Given the description of an element on the screen output the (x, y) to click on. 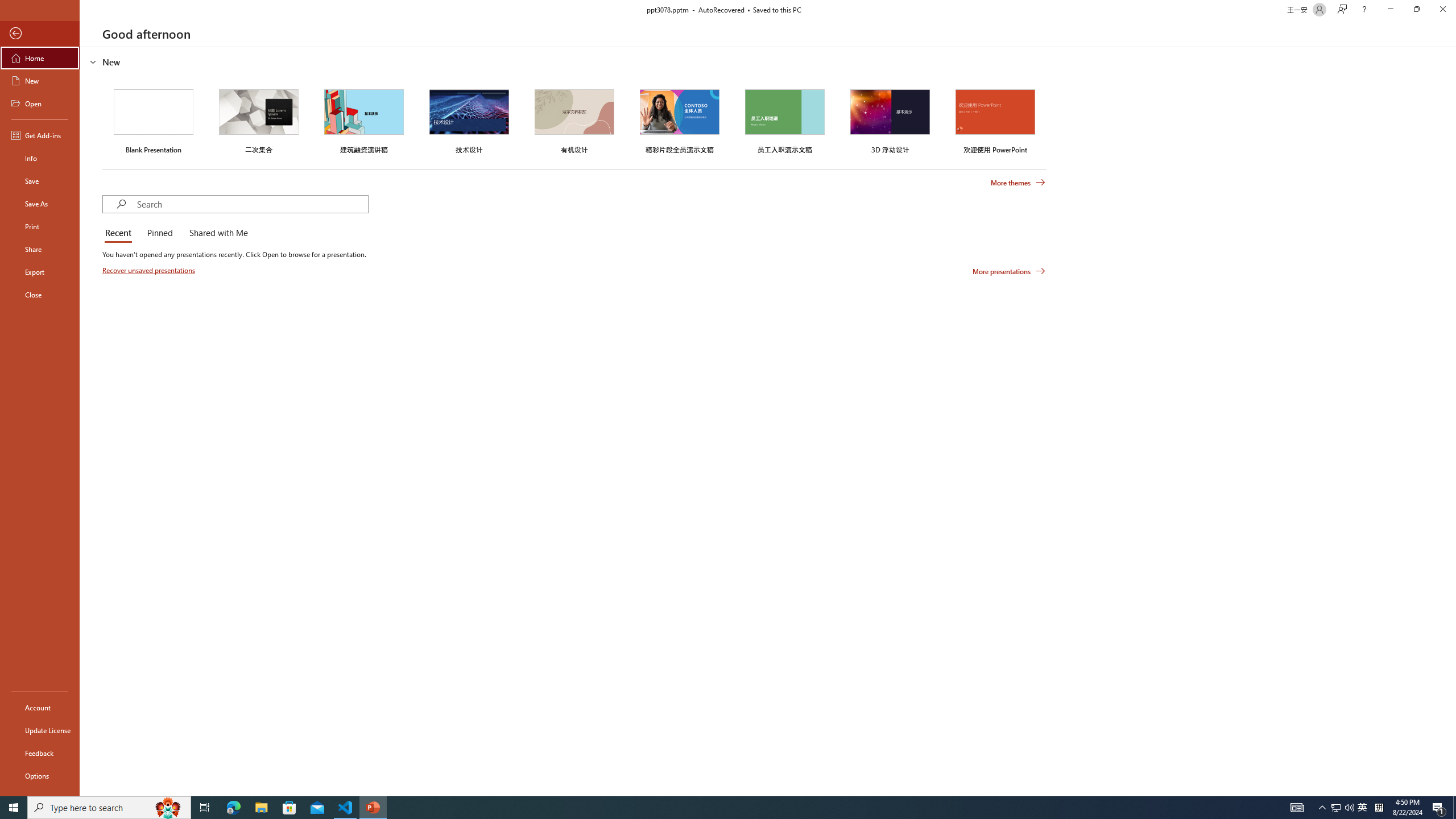
Save As (40, 203)
New (40, 80)
Recent (119, 233)
Blank Presentation (153, 119)
Export (40, 271)
More presentations (1008, 270)
